Given the description of an element on the screen output the (x, y) to click on. 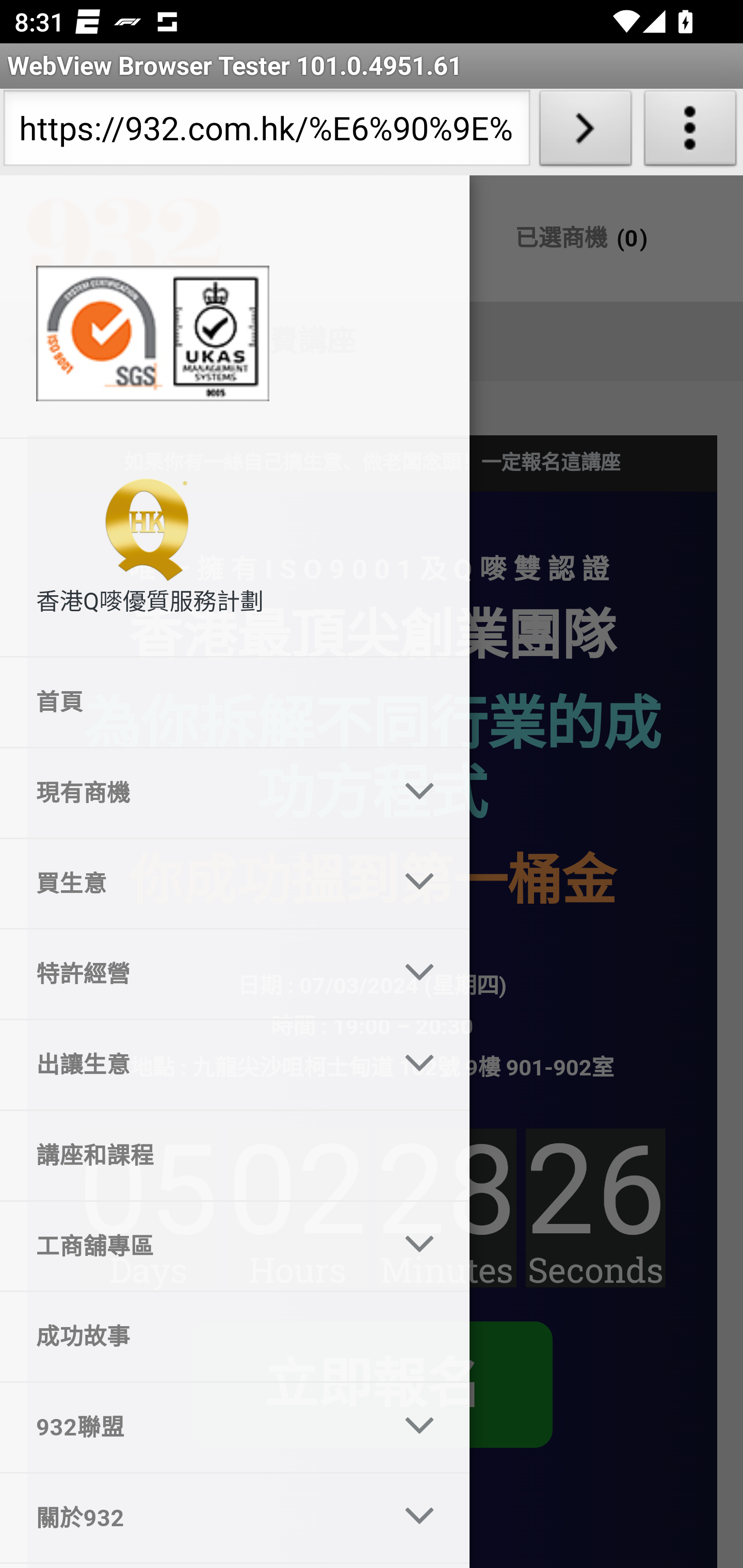
Load URL (585, 132)
About WebView (690, 132)
首頁 (234, 701)
現有商機 (190, 792)
Toggle (420, 793)
買生意 (190, 883)
Toggle (420, 883)
特許經營 (190, 974)
Toggle (420, 975)
出讓生意 (190, 1065)
Toggle (420, 1064)
講座和課程 (234, 1155)
工商舖專區 (190, 1245)
Toggle (420, 1244)
成功故事 (234, 1335)
932聯盟 (190, 1426)
Toggle (420, 1428)
關於932 (190, 1517)
Toggle (420, 1517)
